Given the description of an element on the screen output the (x, y) to click on. 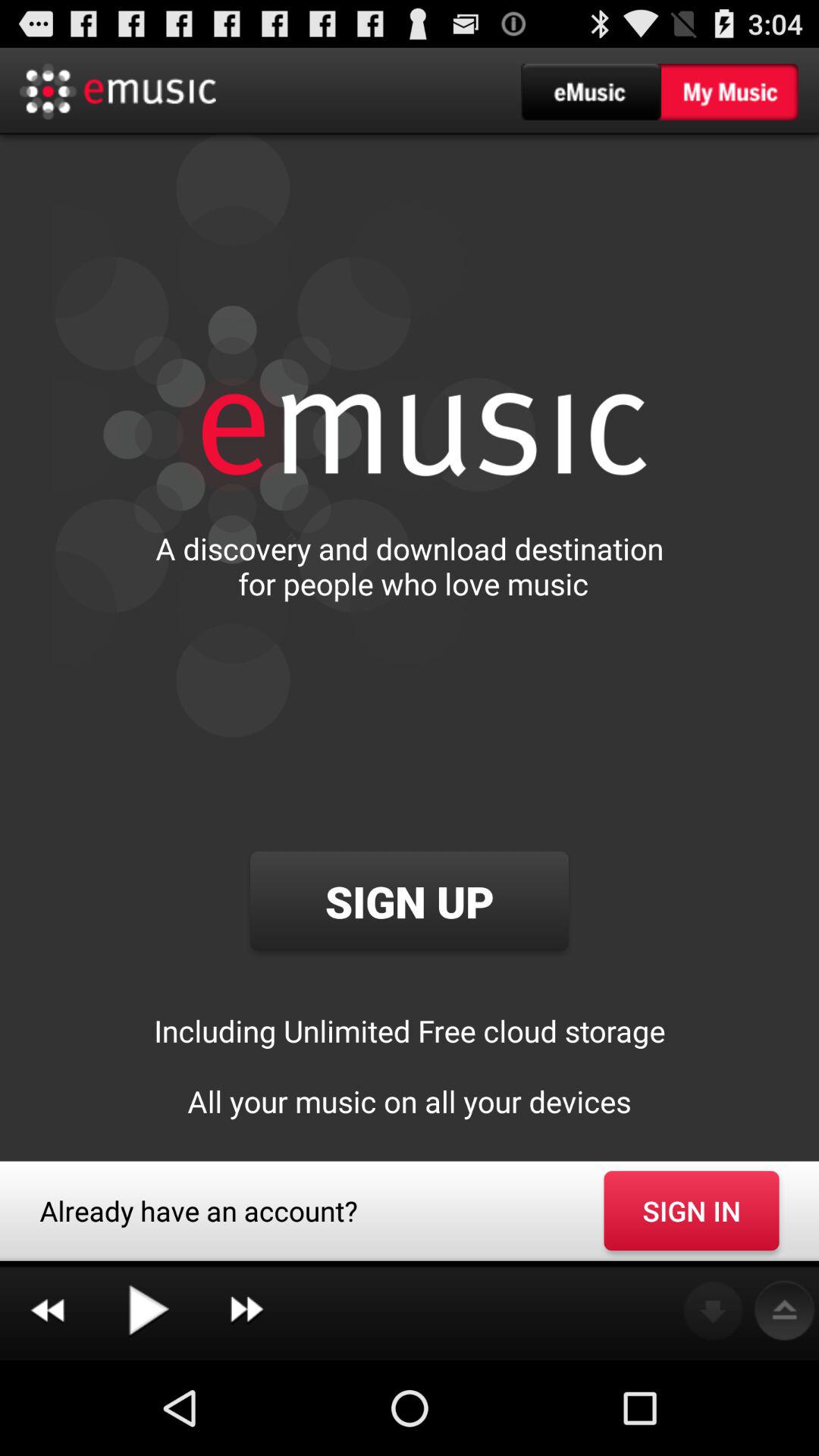
flip until sign in icon (691, 1210)
